Given the description of an element on the screen output the (x, y) to click on. 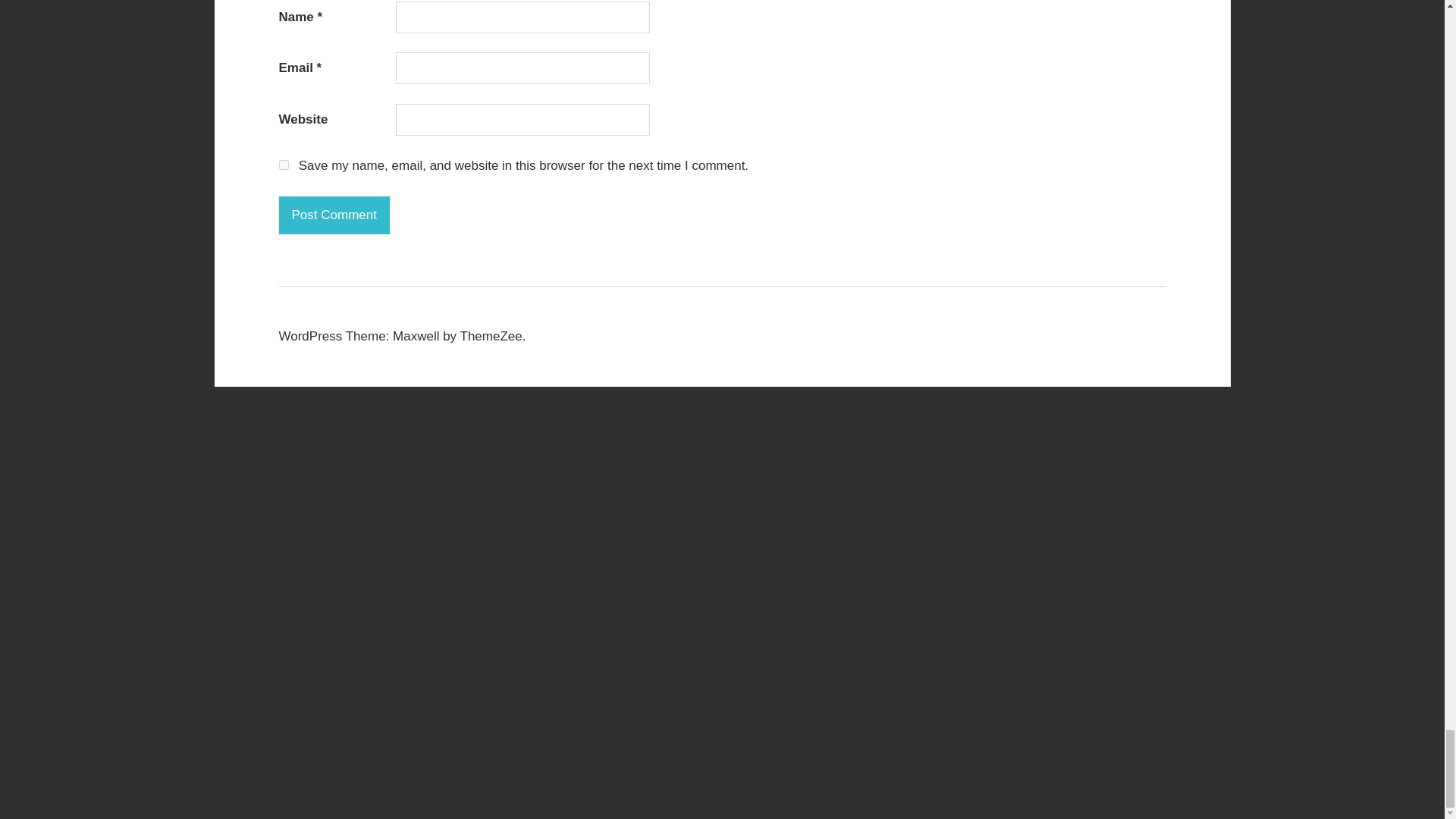
yes (283, 164)
Post Comment (334, 215)
